Given the description of an element on the screen output the (x, y) to click on. 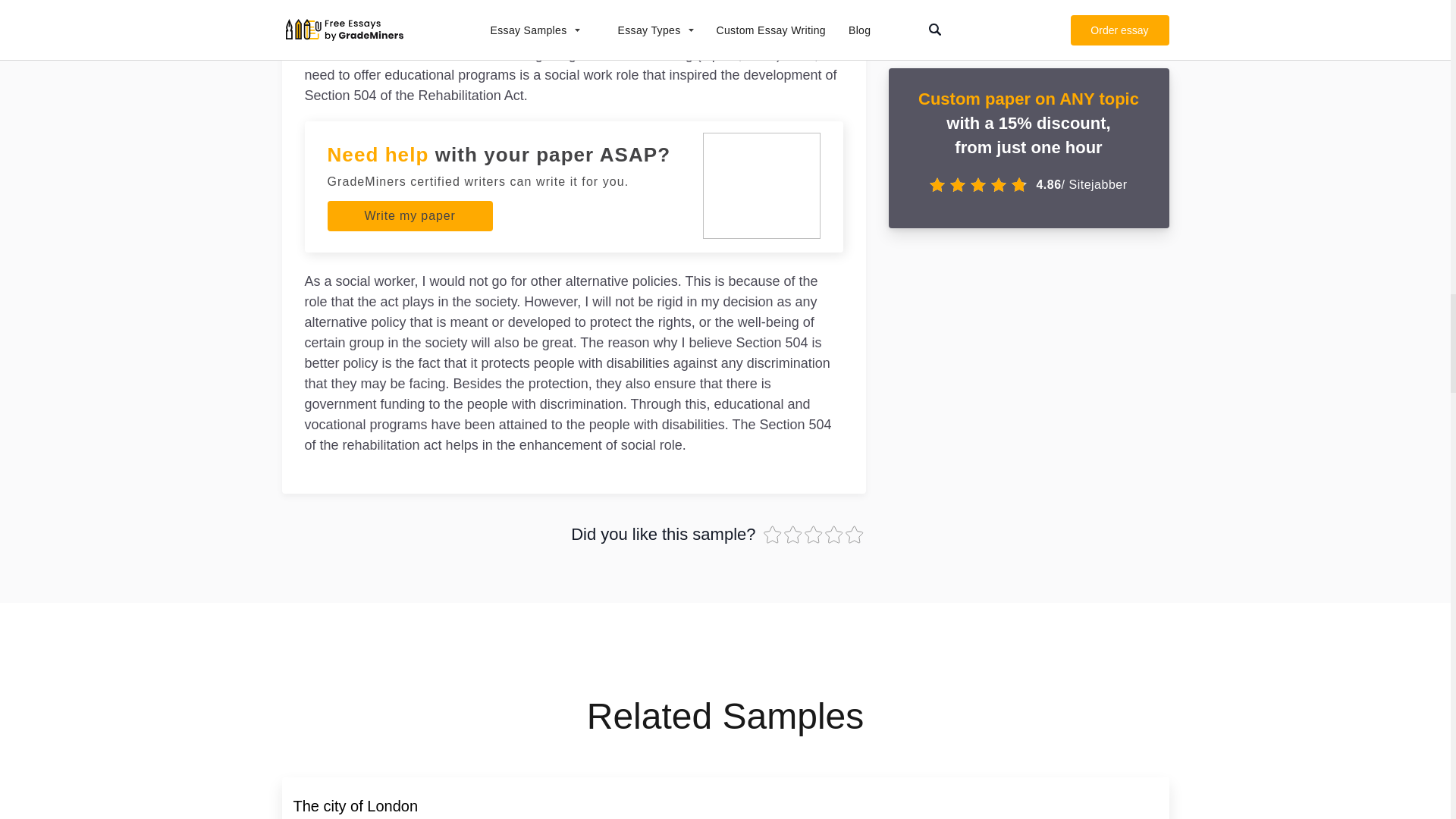
18 votes, average: 4,6 out of 5 (772, 534)
18 votes, average: 4,6 out of 5 (794, 534)
18 votes, average: 4,6 out of 5 (813, 534)
The city of London (354, 805)
18 votes, average: 4,6 out of 5 (854, 534)
18 votes, average: 4,6 out of 5 (835, 534)
